Given the description of an element on the screen output the (x, y) to click on. 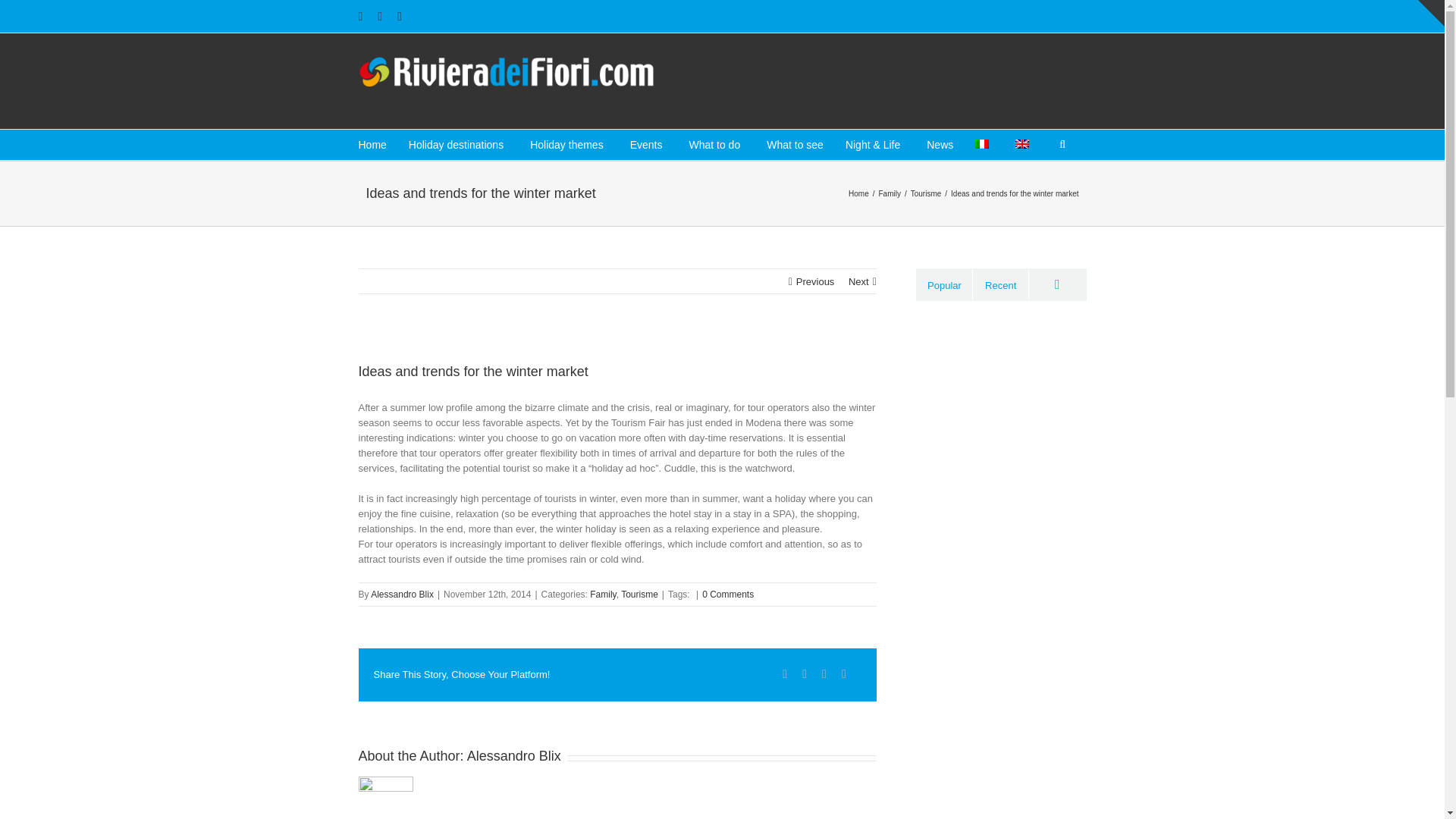
Events (646, 144)
Advertisement (908, 78)
Posts by Alessandro Blix (402, 593)
Tourisme (927, 193)
Holiday destinations (456, 144)
Family (890, 193)
English (1021, 143)
Holiday themes (566, 144)
Home (371, 144)
Posts by Alessandro Blix (513, 755)
Italiano (981, 143)
